Given the description of an element on the screen output the (x, y) to click on. 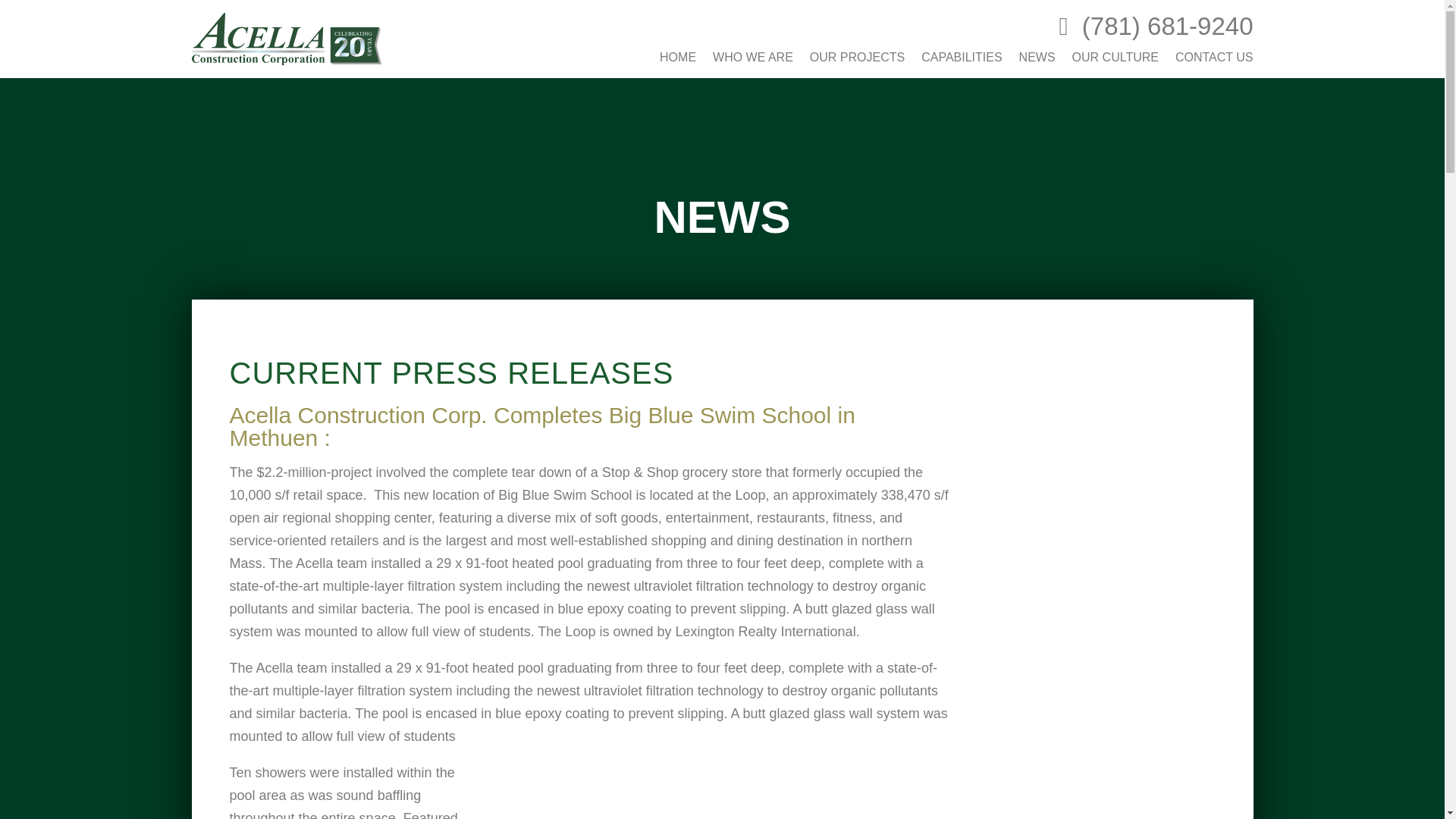
CONTACT US (1213, 57)
OUR CULTURE (1114, 57)
WHO WE ARE (753, 57)
NEWS (1037, 57)
HOME (677, 57)
CAPABILITIES (961, 57)
OUR PROJECTS (856, 57)
